Given the description of an element on the screen output the (x, y) to click on. 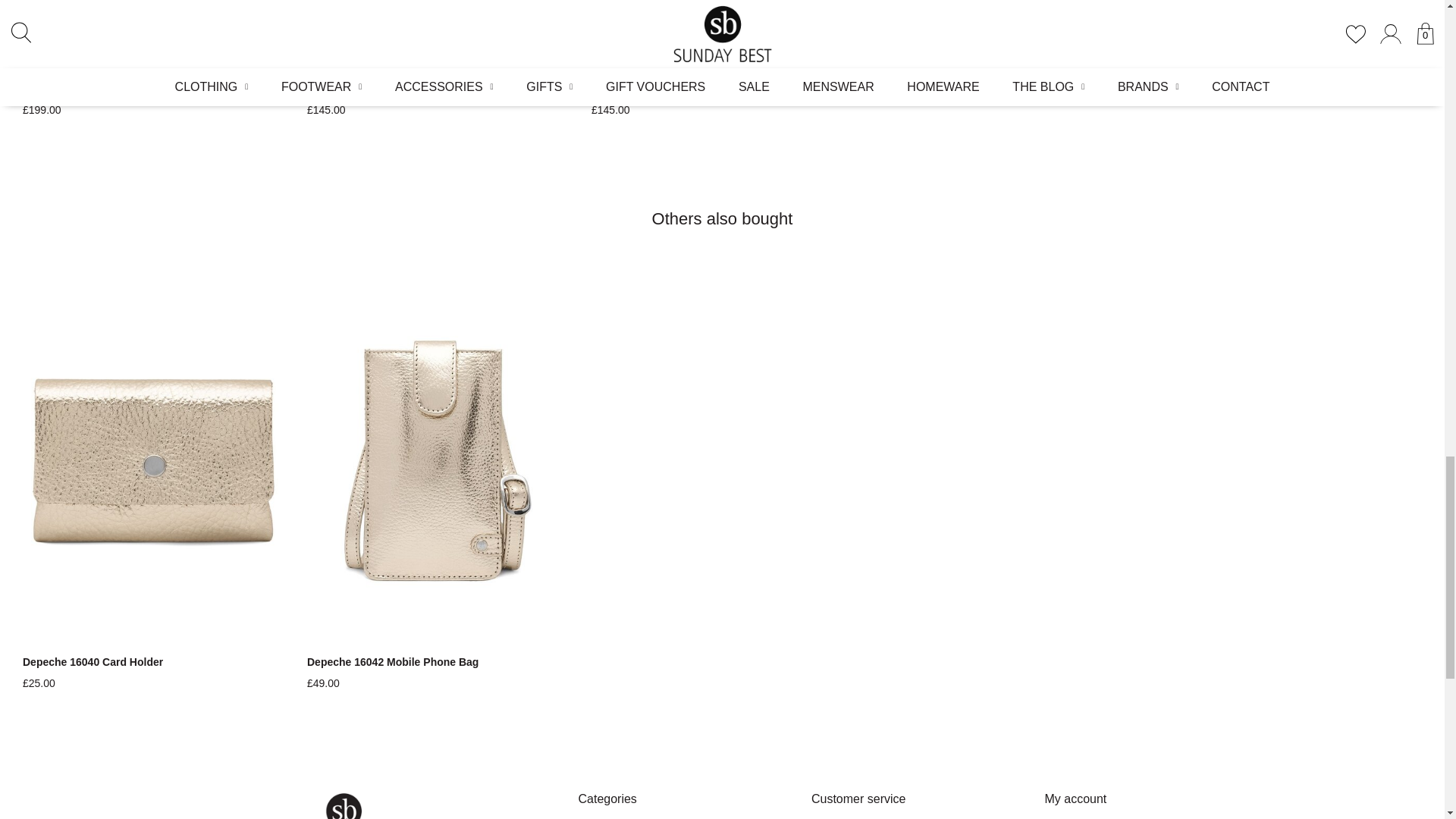
DEPECHE Depeche 15956 Cross Over Bag (438, 35)
DEPECHE Depeche 16040 Card Holder (153, 662)
DEPECHE Depeche 15990 Bumbag (722, 35)
DEPECHE Depeche 15956 Cross Over Bag (438, 89)
DEPECHE Depeche 15992 Shoulderbag (153, 35)
DEPECHE Depeche 15990 Bumbag (722, 89)
DEPECHE Depeche 16042 Mobile Phone Bag (438, 662)
DEPECHE Depeche 15992 Shoulderbag (153, 89)
